Given the description of an element on the screen output the (x, y) to click on. 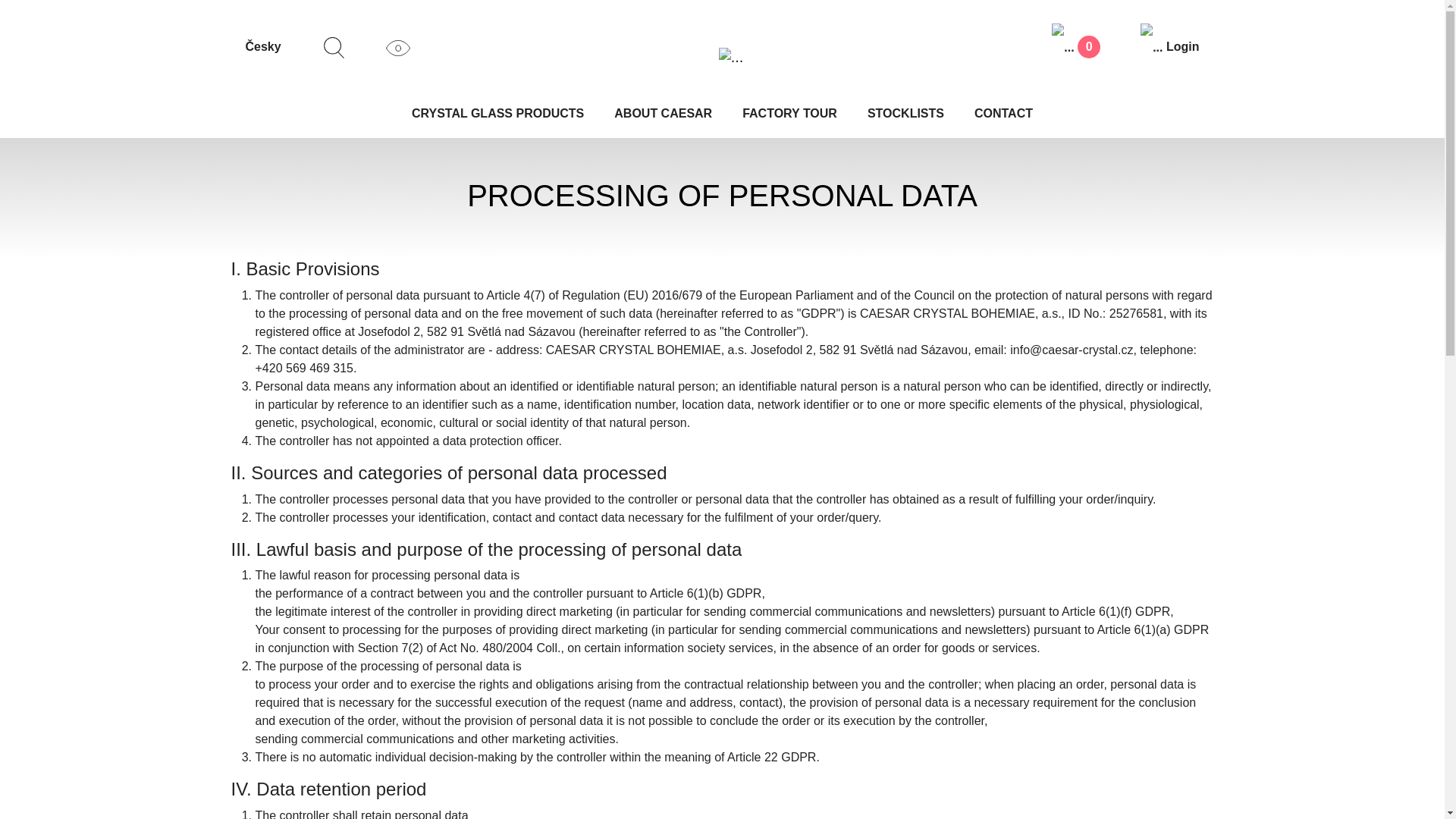
... (397, 47)
... (333, 47)
... (731, 56)
